Given the description of an element on the screen output the (x, y) to click on. 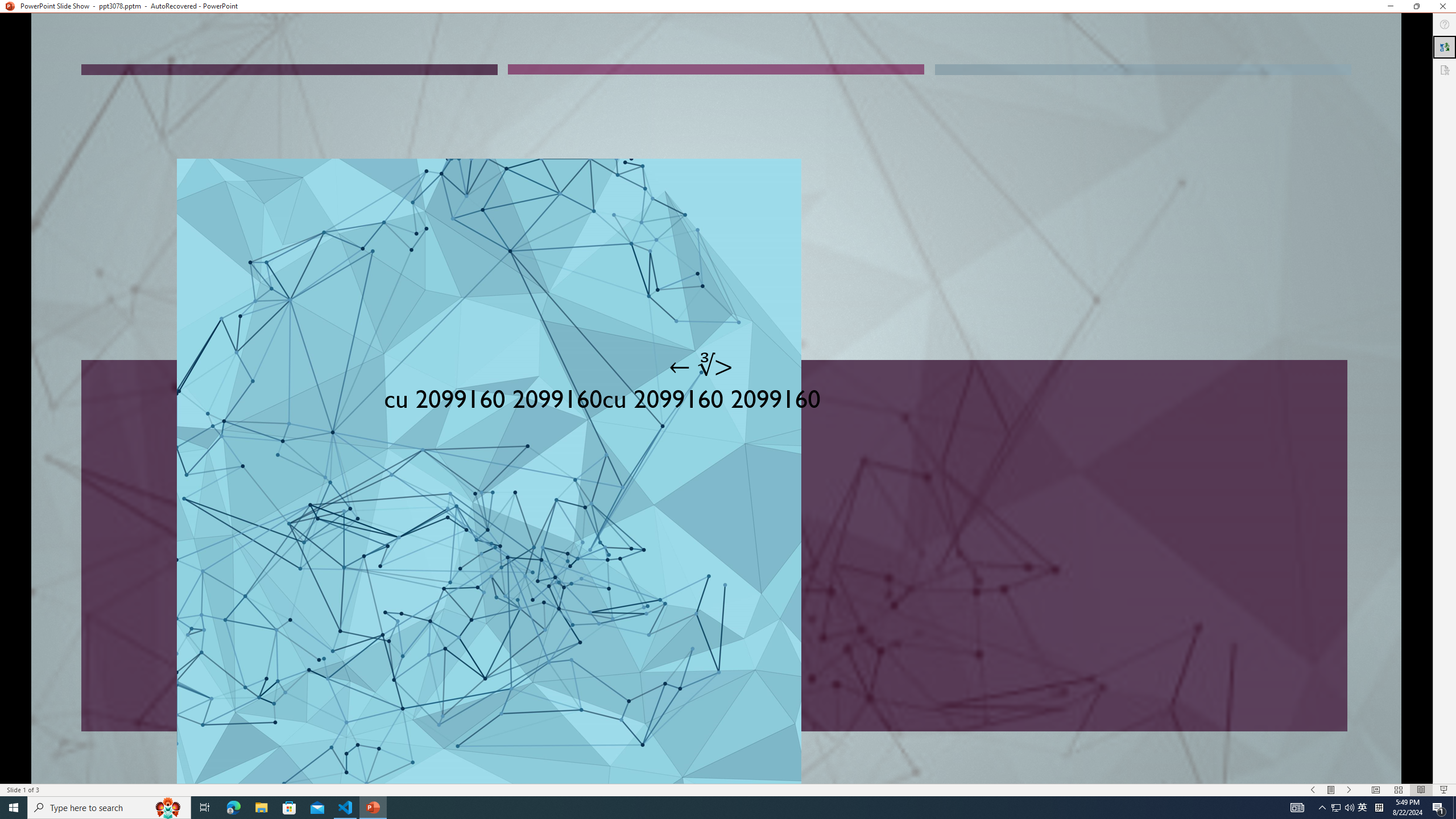
System (6, 6)
System (6, 6)
Slide Show Previous On (1313, 790)
Slide Show (1444, 790)
Translator (1444, 47)
Slide Sorter (1398, 790)
Menu On (1331, 790)
Accessibility (1444, 69)
Help (1444, 24)
Normal (1375, 790)
Slide Show Next On (1349, 790)
Class: MsoCommandBar (728, 789)
Reading View (1420, 790)
